Given the description of an element on the screen output the (x, y) to click on. 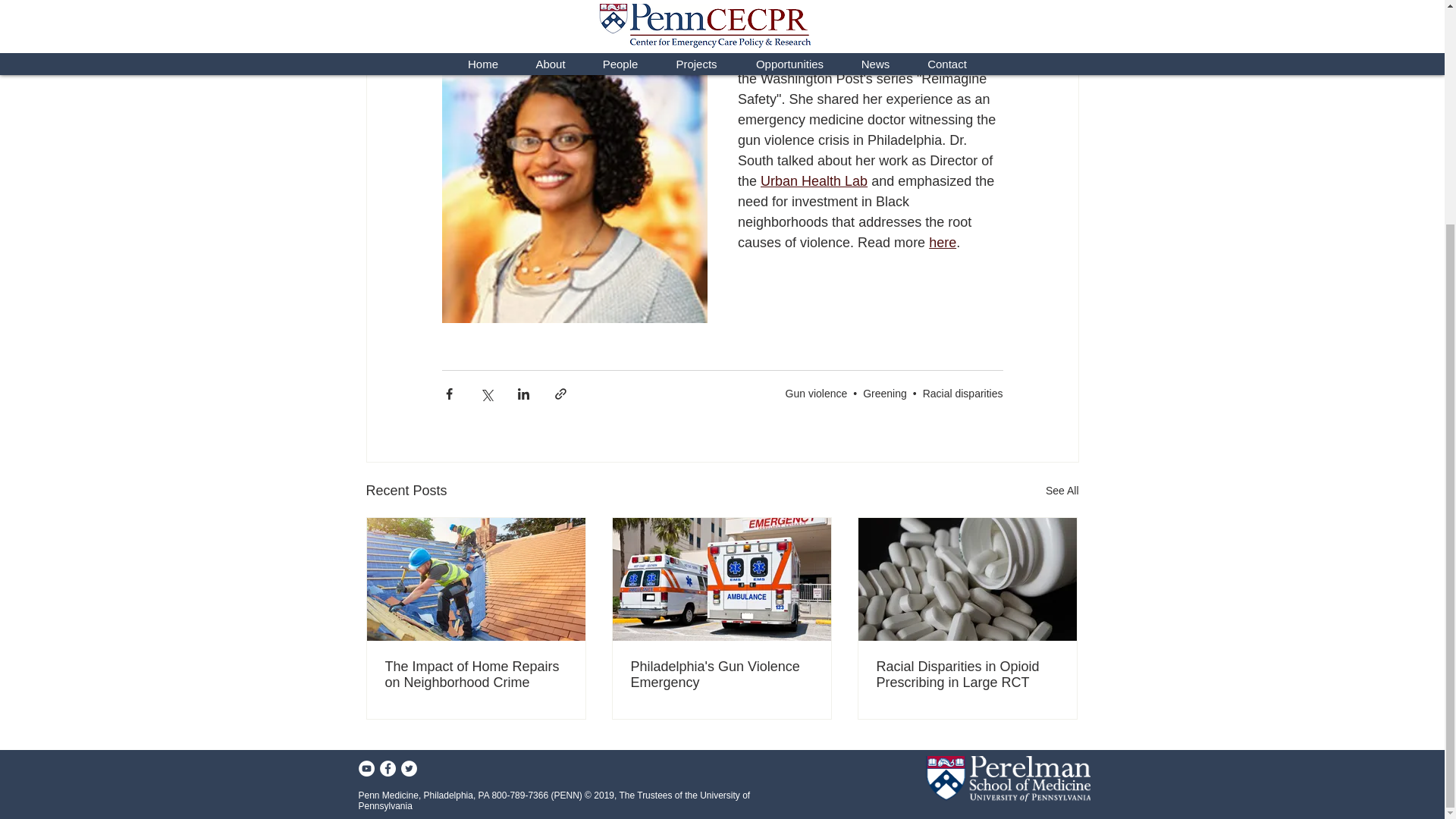
here (942, 242)
See All (1061, 490)
Racial disparities (963, 393)
The Impact of Home Repairs on Neighborhood Crime (476, 675)
Greening (885, 393)
Philadelphia's Gun Violence Emergency (721, 675)
Racial Disparities in Opioid Prescribing in Large RCT (967, 675)
Urban Health Lab (813, 181)
Gun violence (816, 393)
